Given the description of an element on the screen output the (x, y) to click on. 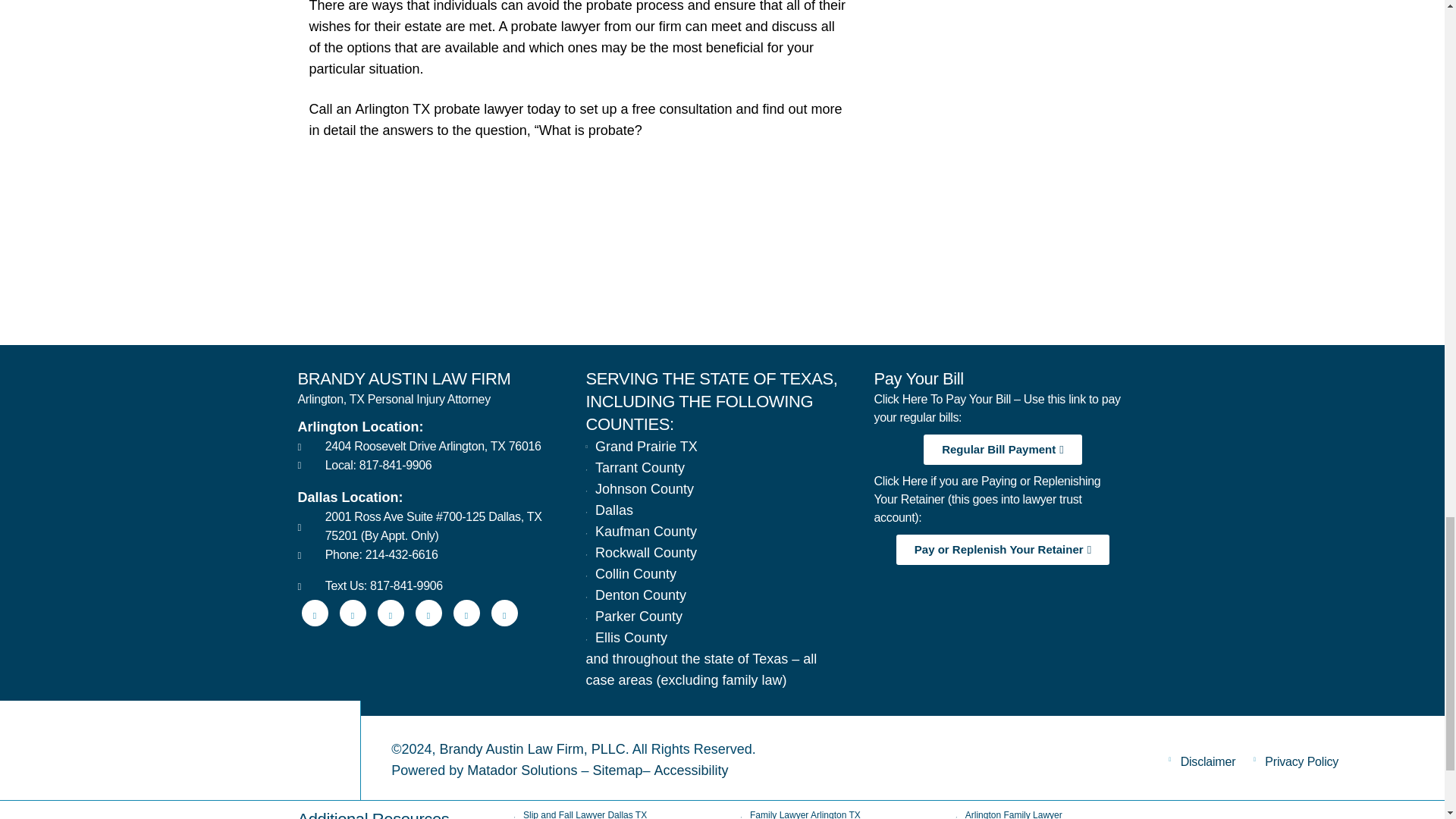
Super Lawyers (619, 280)
Avvo Rating - Top Attorney (380, 280)
American Institution of Legal Counsel (858, 280)
NAELA (1097, 280)
